Given the description of an element on the screen output the (x, y) to click on. 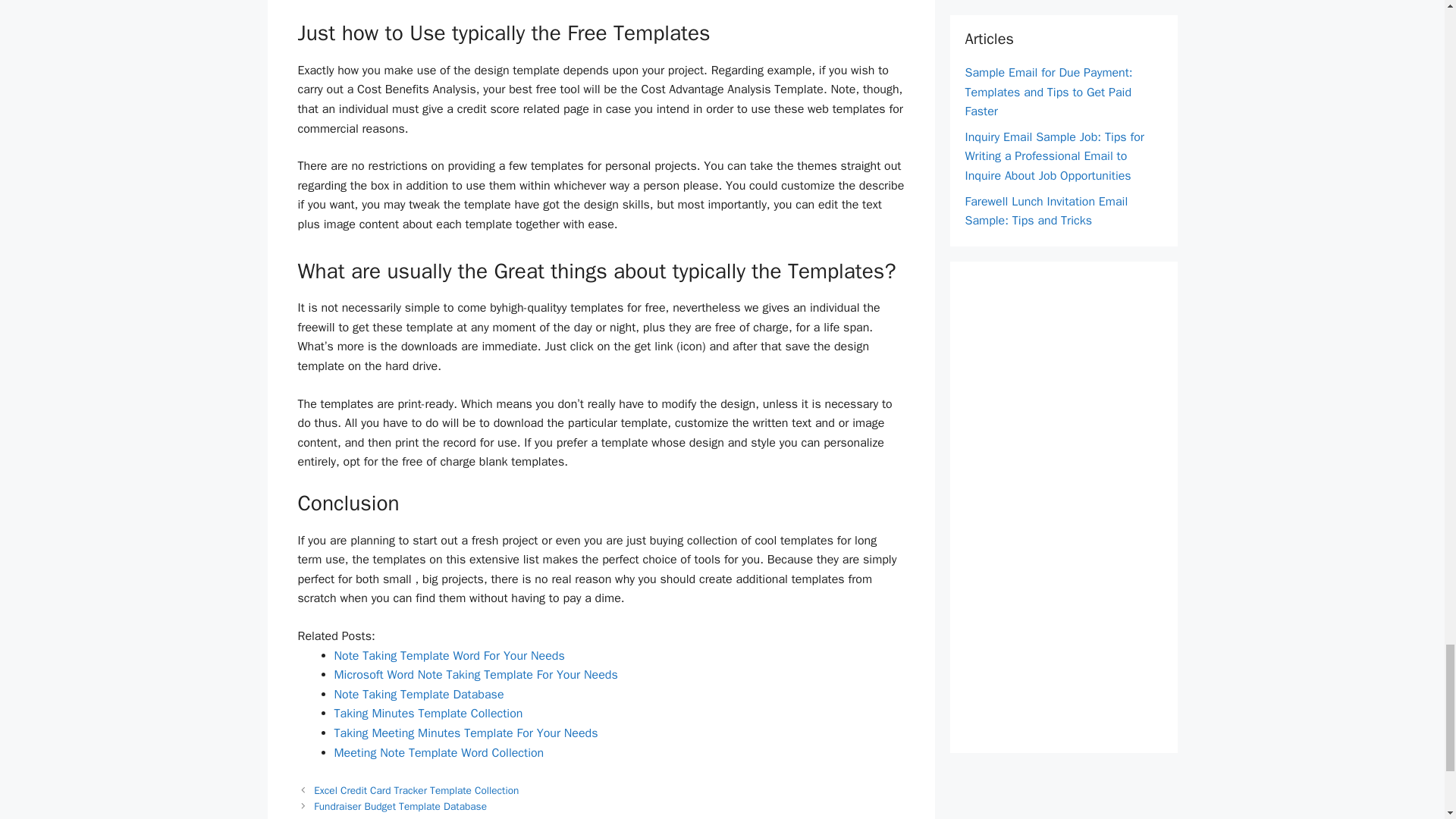
Fundraiser Budget Template Database (400, 806)
Taking Meeting Minutes Template For Your Needs (464, 733)
Microsoft Word Note Taking Template For Your Needs (475, 674)
Meeting Note Template Word Collection (438, 752)
Excel Credit Card Tracker Template Collection (416, 789)
Note Taking Template Database (418, 694)
Taking Minutes Template Collection (427, 713)
Note Taking Template Word For Your Needs (448, 655)
